Given the description of an element on the screen output the (x, y) to click on. 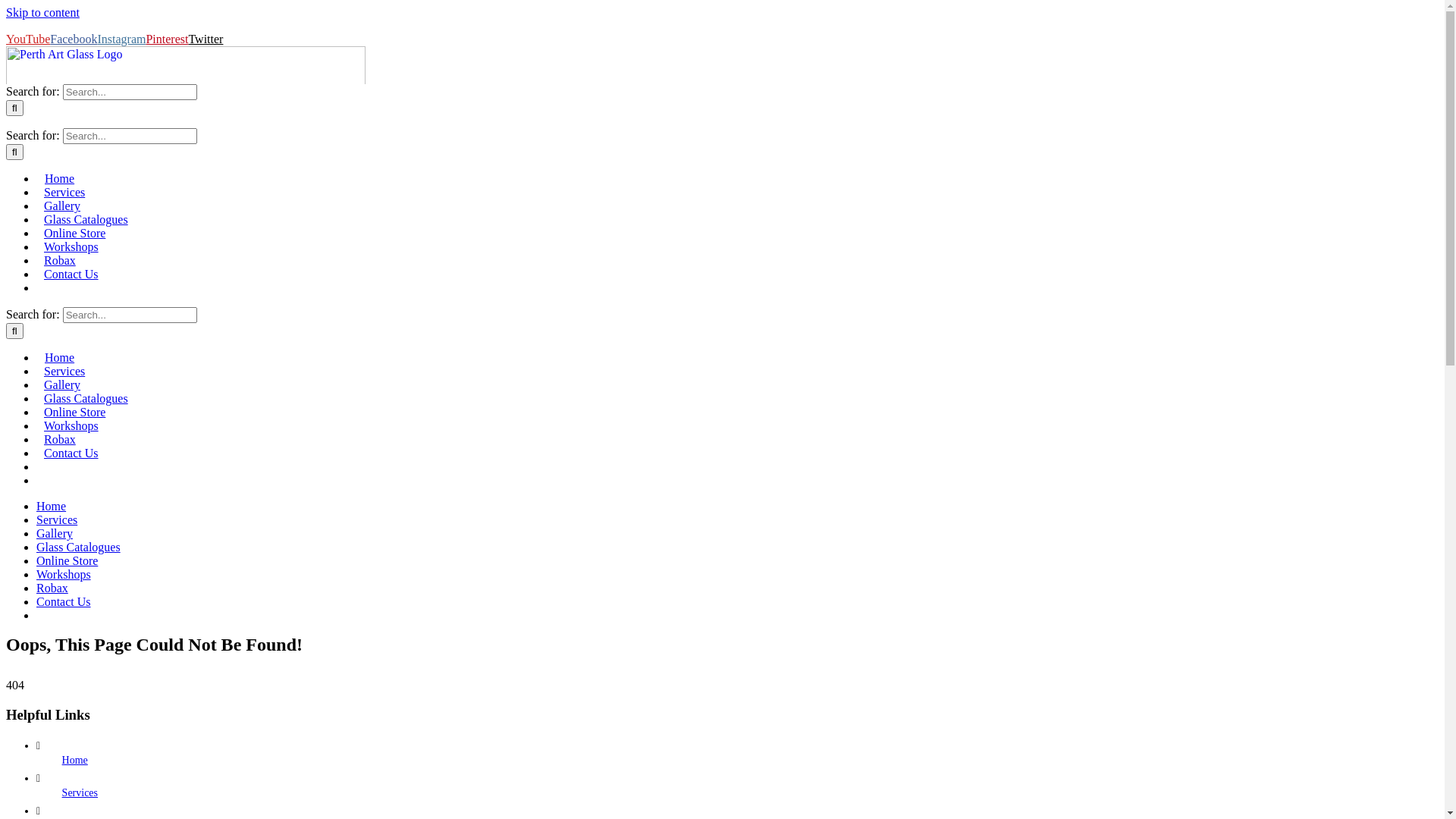
Gallery Element type: text (54, 533)
Glass Catalogues Element type: text (85, 219)
Gallery Element type: text (61, 205)
Skip to content Element type: text (42, 12)
Facebook Element type: text (73, 38)
Contact Us Element type: text (70, 452)
Glass Catalogues Element type: text (78, 546)
Robax Element type: text (59, 439)
Home Element type: text (59, 357)
Instagram Element type: text (121, 38)
Glass Catalogues Element type: text (85, 398)
Gallery Element type: text (61, 384)
Workshops Element type: text (70, 246)
Home Element type: text (50, 505)
Robax Element type: text (59, 260)
Home Element type: text (59, 178)
Services Element type: text (63, 191)
Twitter Element type: text (205, 38)
sales@perthartglass.com.au Element type: text (141, 25)
Services Element type: text (79, 792)
Workshops Element type: text (70, 425)
Online Store Element type: text (74, 411)
Robax Element type: text (52, 587)
YouTube Element type: text (28, 38)
Pinterest Element type: text (166, 38)
Services Element type: text (63, 370)
Workshops Element type: text (63, 573)
Contact Us Element type: text (63, 601)
Home Element type: text (74, 759)
Services Element type: text (56, 519)
Online Store Element type: text (66, 560)
Contact Us Element type: text (70, 273)
Online Store Element type: text (74, 232)
